Given the description of an element on the screen output the (x, y) to click on. 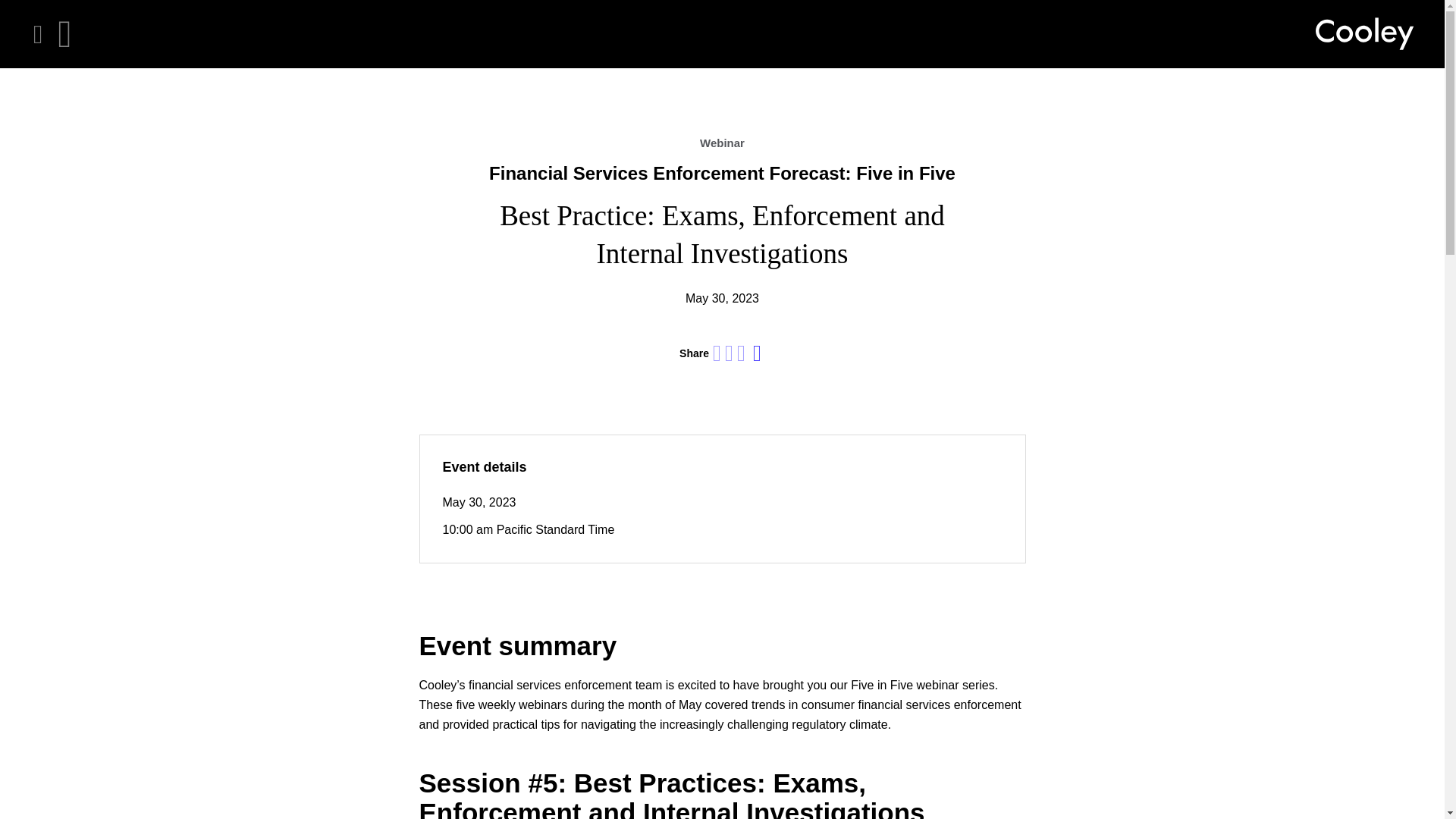
Share on LinkedIn (716, 353)
menu (37, 34)
Skip to main content (12, 12)
search (64, 34)
Share with Email (756, 353)
Share on Twitter (729, 353)
Share on Facebook (740, 353)
